Given the description of an element on the screen output the (x, y) to click on. 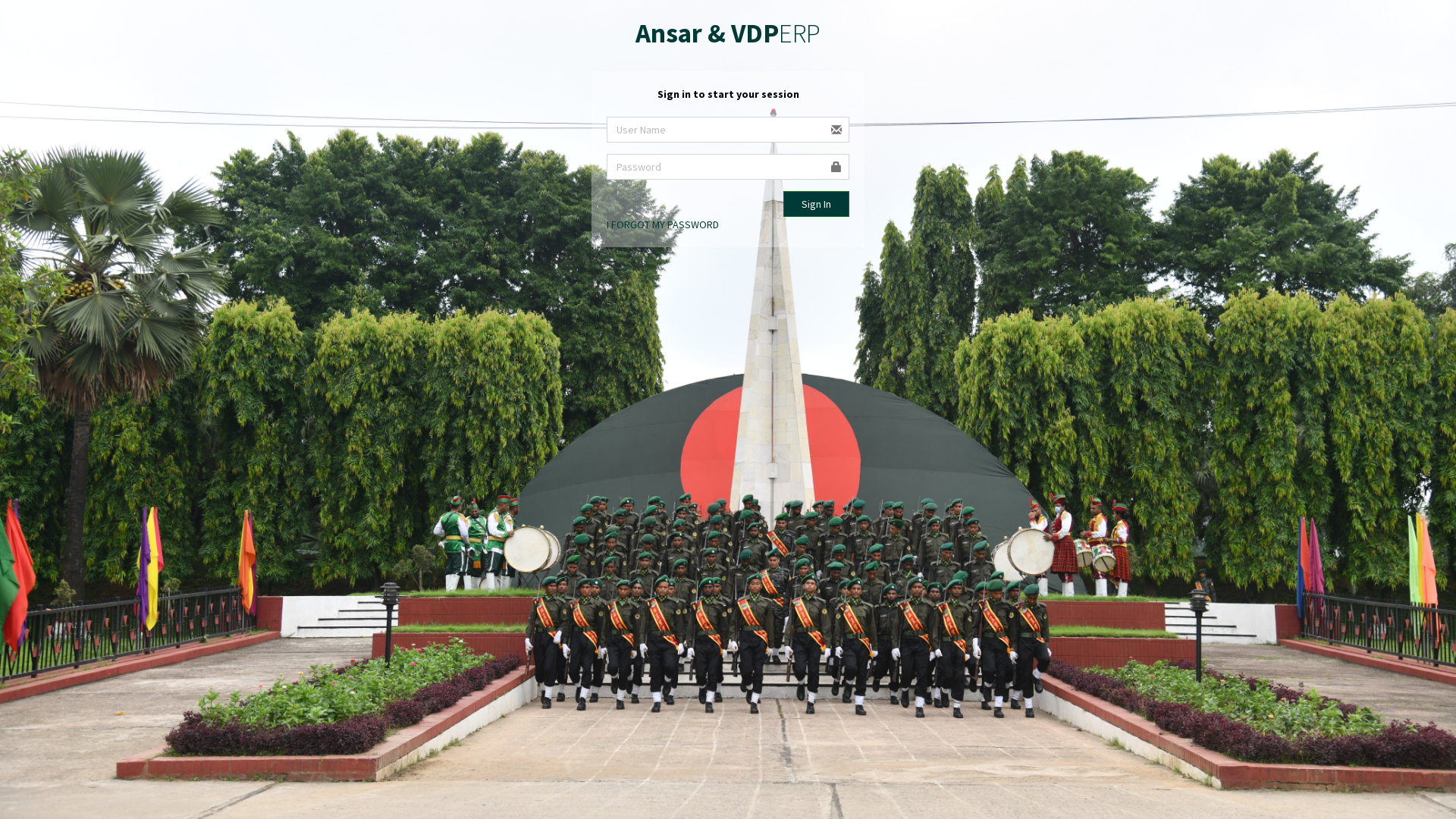
Sign In Element type: text (816, 203)
I FORGOT MY PASSWORD Element type: text (662, 224)
Ansar & VDPERP Element type: text (727, 33)
